Given the description of an element on the screen output the (x, y) to click on. 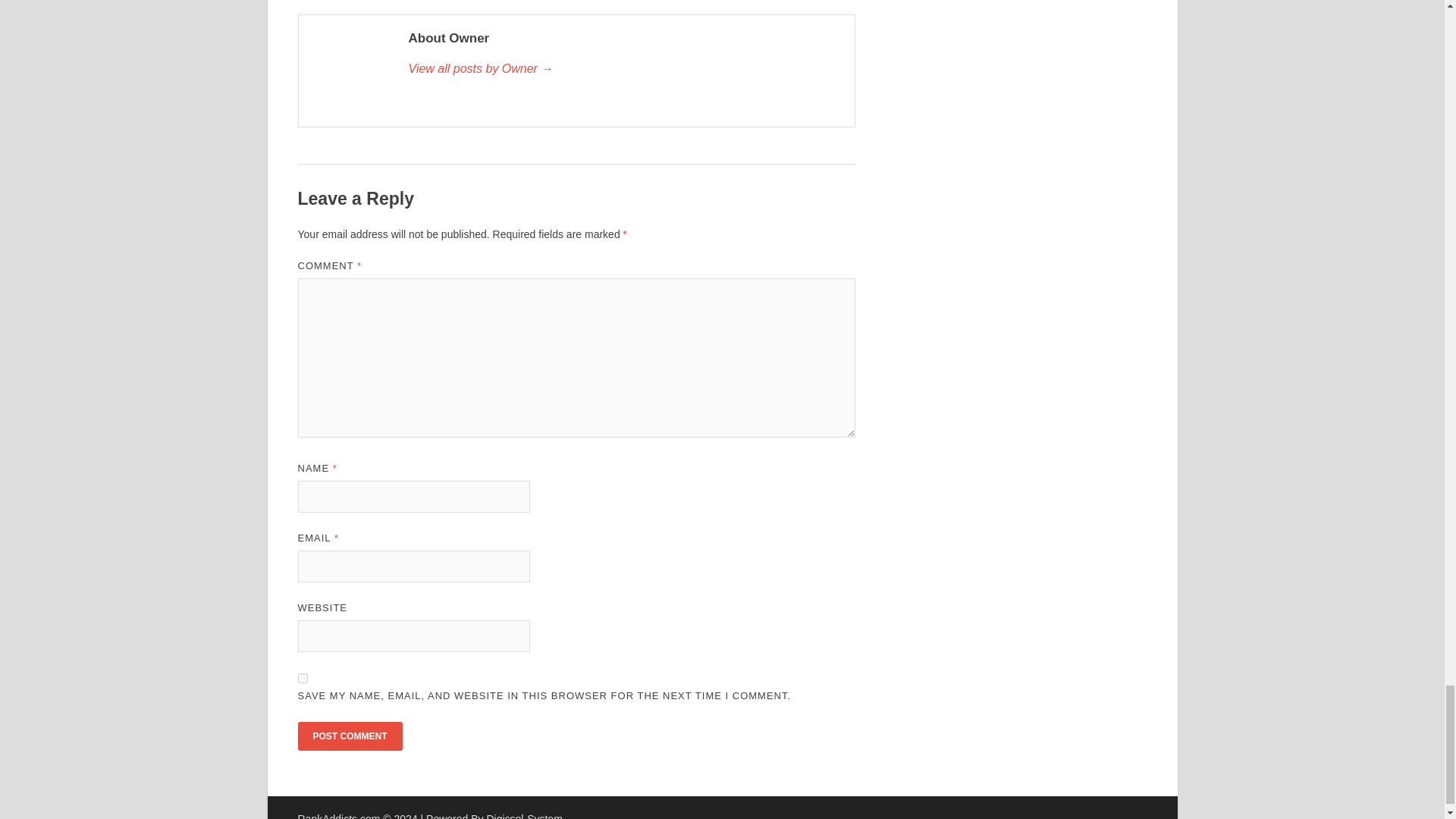
yes (302, 678)
Owner (622, 68)
Post Comment (349, 736)
Post Comment (349, 736)
